Given the description of an element on the screen output the (x, y) to click on. 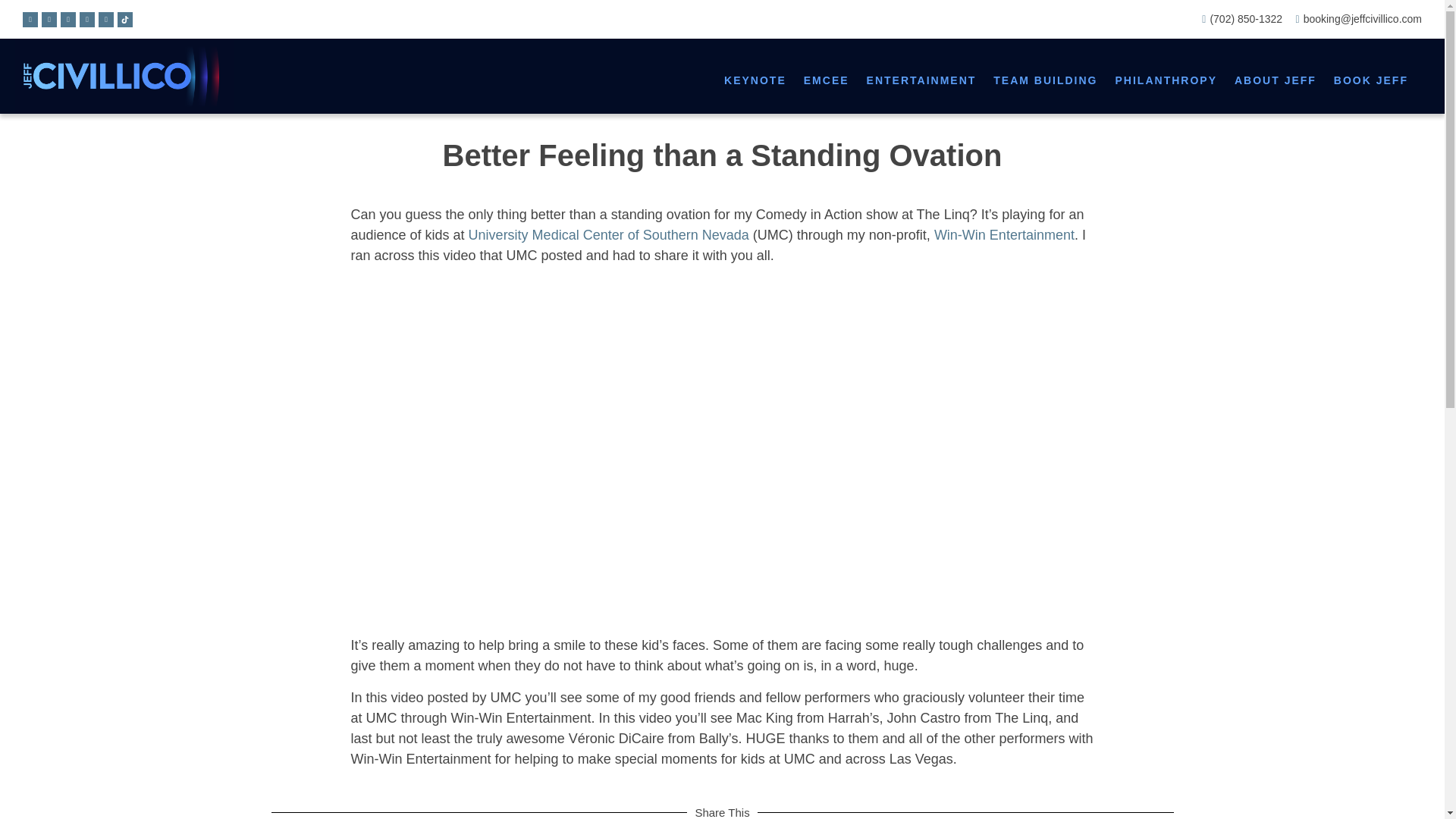
PHILANTHROPY (1165, 79)
KEYNOTE (754, 79)
EMCEE (826, 79)
ABOUT JEFF (1275, 79)
TEAM BUILDING (1045, 79)
ENTERTAINMENT (921, 79)
BOOK JEFF (1370, 79)
